Given the description of an element on the screen output the (x, y) to click on. 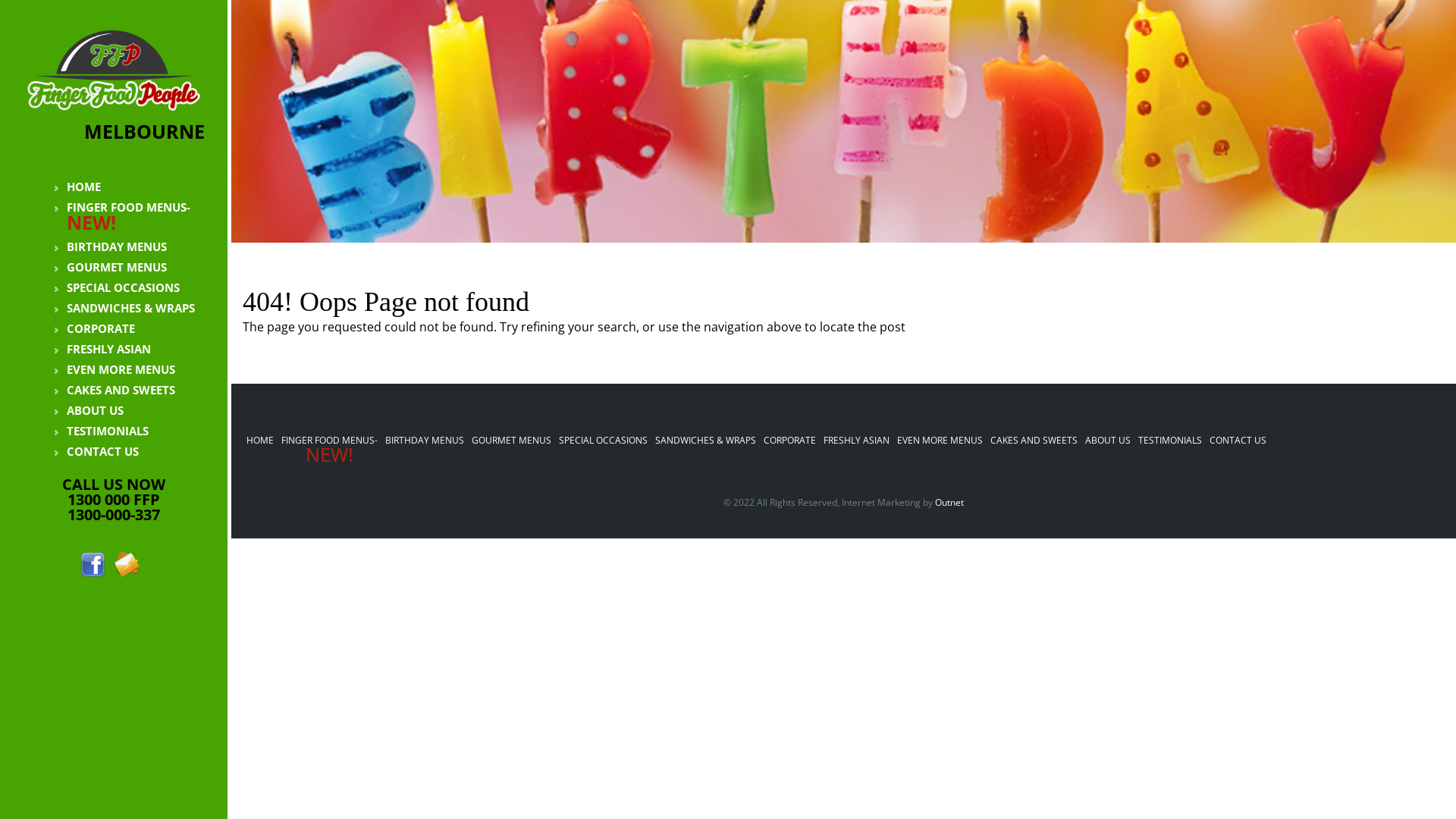
TESTIMONIALS Element type: text (101, 430)
CORPORATE Element type: text (94, 328)
TESTIMONIALS Element type: text (1169, 439)
EVEN MORE MENUS Element type: text (939, 439)
FRESHLY ASIAN Element type: text (102, 348)
ABOUT US Element type: text (1107, 439)
GOURMET MENUS Element type: text (110, 267)
FINGER FOOD MENUS-
NEW! Element type: text (329, 448)
SANDWICHES & WRAPS Element type: text (124, 308)
FINGER FOOD MENUS-
NEW! Element type: text (122, 216)
EVEN MORE MENUS Element type: text (114, 369)
BIRTHDAY MENUS Element type: text (110, 246)
SPECIAL OCCASIONS Element type: text (602, 439)
FRESHLY ASIAN Element type: text (856, 439)
CAKES AND SWEETS Element type: text (114, 389)
SANDWICHES & WRAPS Element type: text (705, 439)
HOME Element type: text (259, 439)
SPECIAL OCCASIONS Element type: text (116, 287)
CORPORATE Element type: text (789, 439)
BIRTHDAY MENUS Element type: text (424, 439)
CAKES AND SWEETS Element type: text (1033, 439)
HOME Element type: text (77, 186)
CONTACT US Element type: text (96, 451)
GOURMET MENUS Element type: text (511, 439)
CONTACT US Element type: text (1237, 439)
ABOUT US Element type: text (88, 410)
Outnet Element type: text (949, 501)
